Given the description of an element on the screen output the (x, y) to click on. 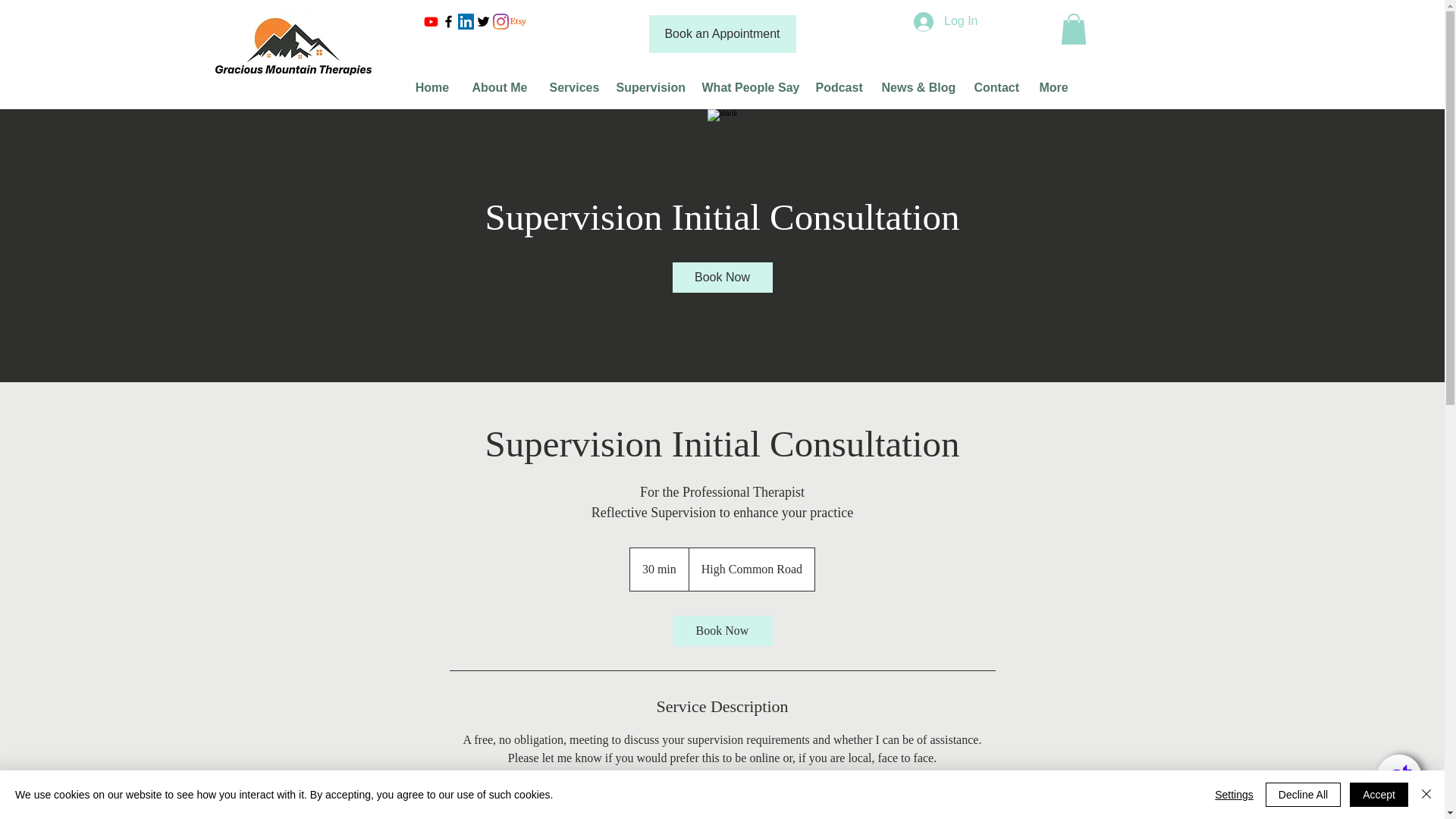
Book Now (721, 277)
Contact (994, 87)
About Me (499, 87)
Log In (945, 21)
Book an Appointment (722, 34)
Home (431, 87)
Supervision (647, 87)
What People Say (746, 87)
Book Now (721, 630)
